Given the description of an element on the screen output the (x, y) to click on. 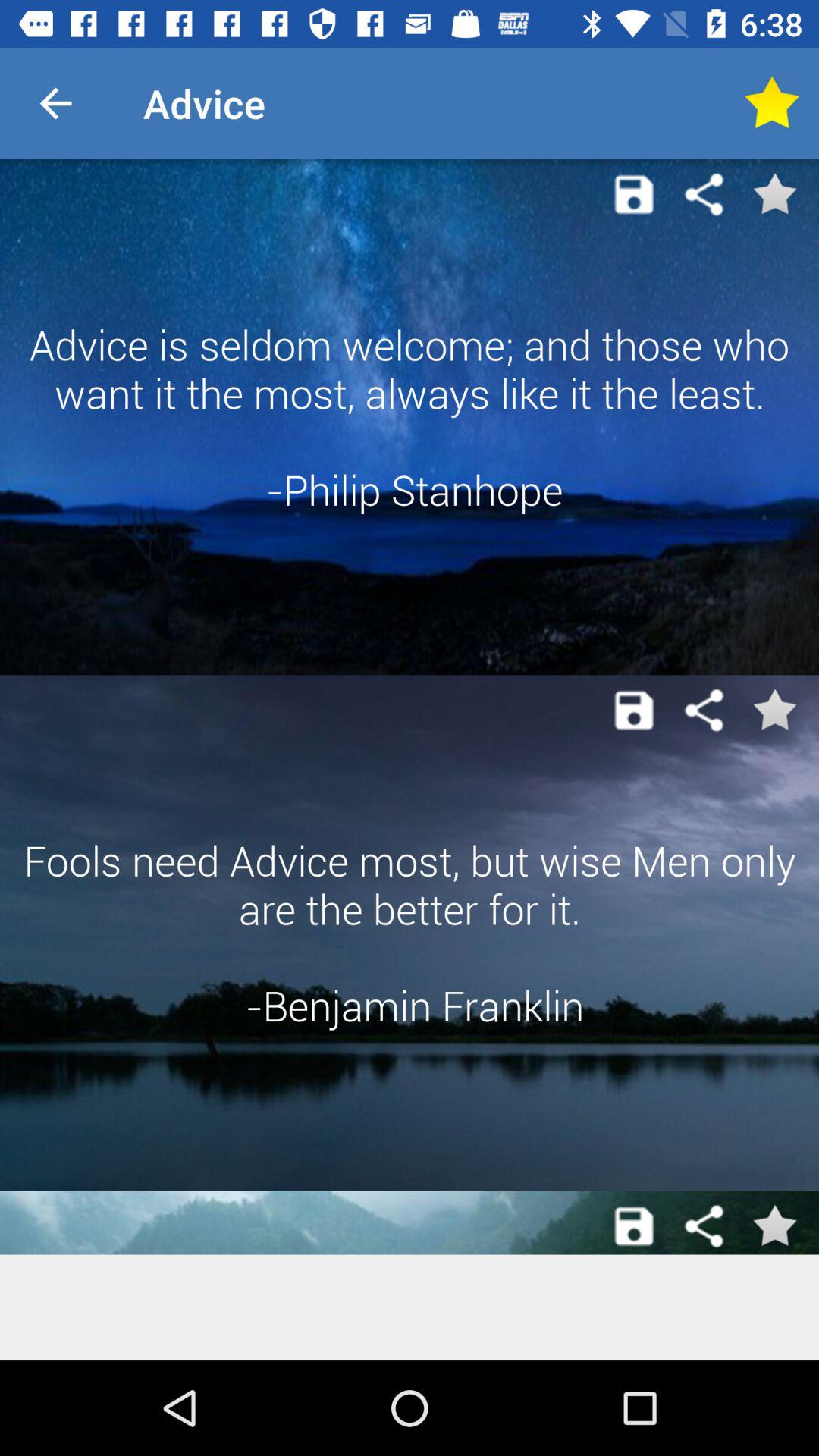
choose the item next to the advice (771, 103)
